Given the description of an element on the screen output the (x, y) to click on. 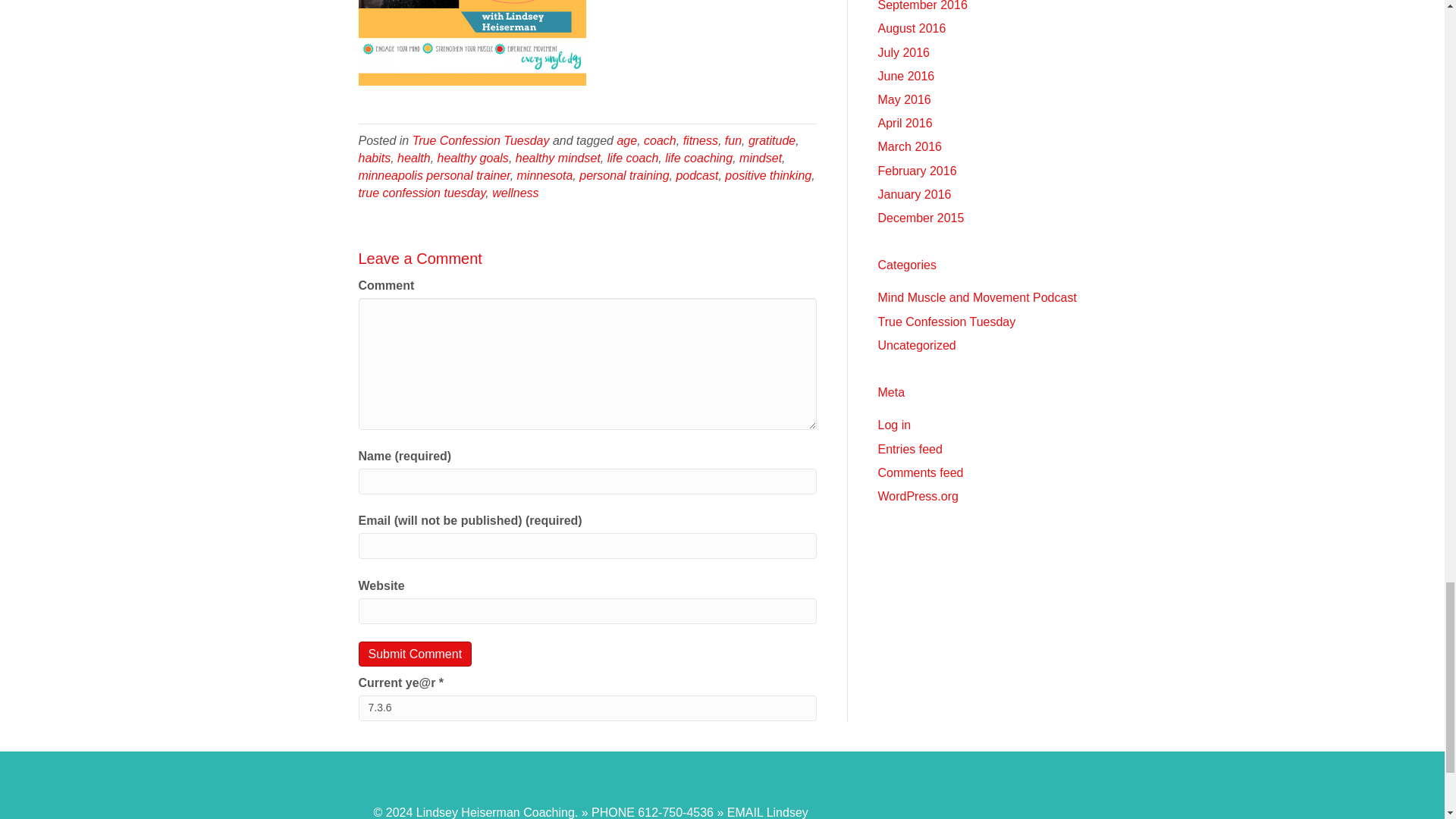
fitness (699, 140)
health (413, 157)
life coaching (698, 157)
healthy mindset (557, 157)
coach (660, 140)
True Confession Tuesday (481, 140)
Submit Comment (414, 653)
fun (733, 140)
positive thinking (767, 174)
wellness (515, 192)
